Given the description of an element on the screen output the (x, y) to click on. 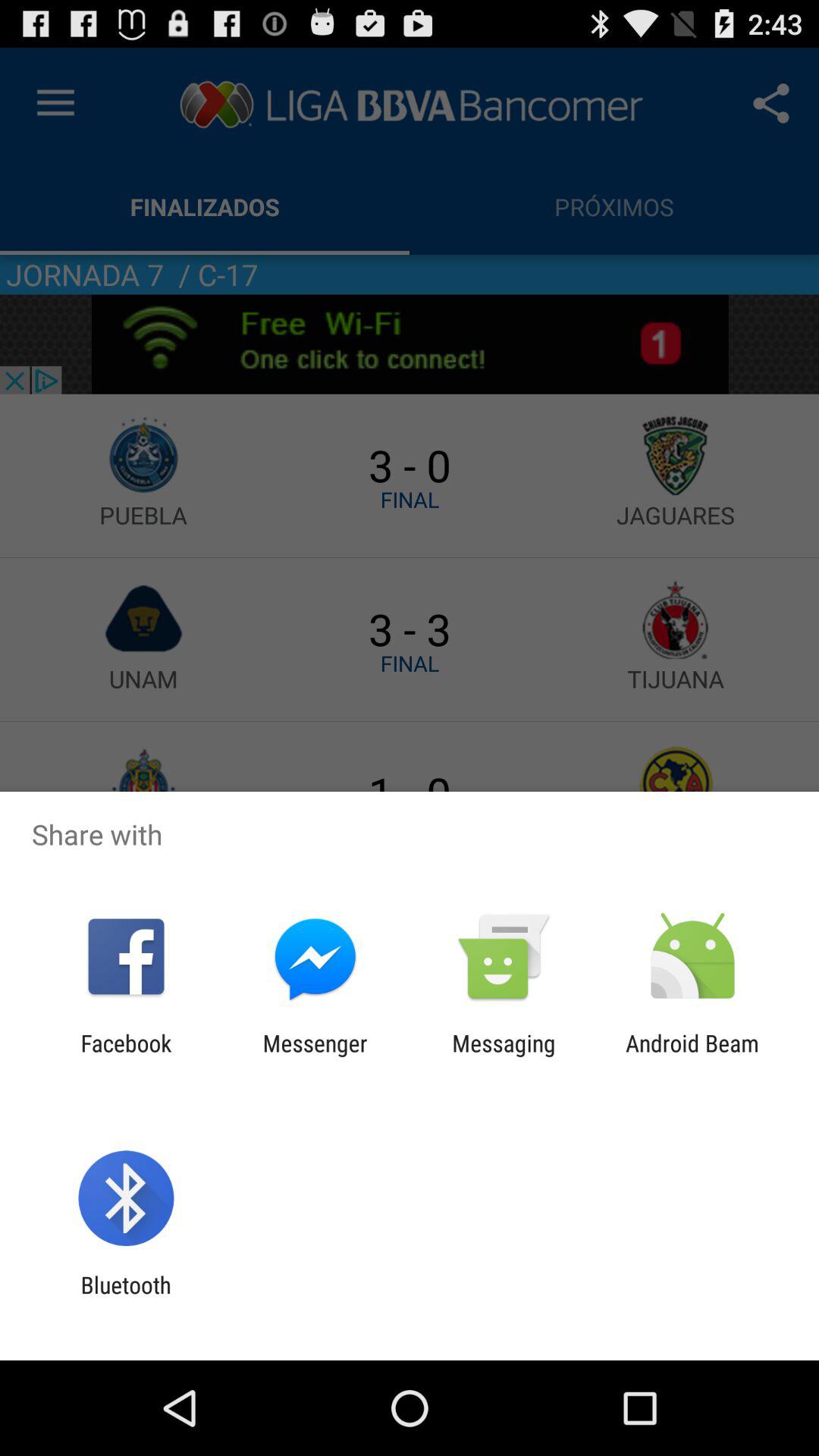
scroll until messaging (503, 1056)
